Given the description of an element on the screen output the (x, y) to click on. 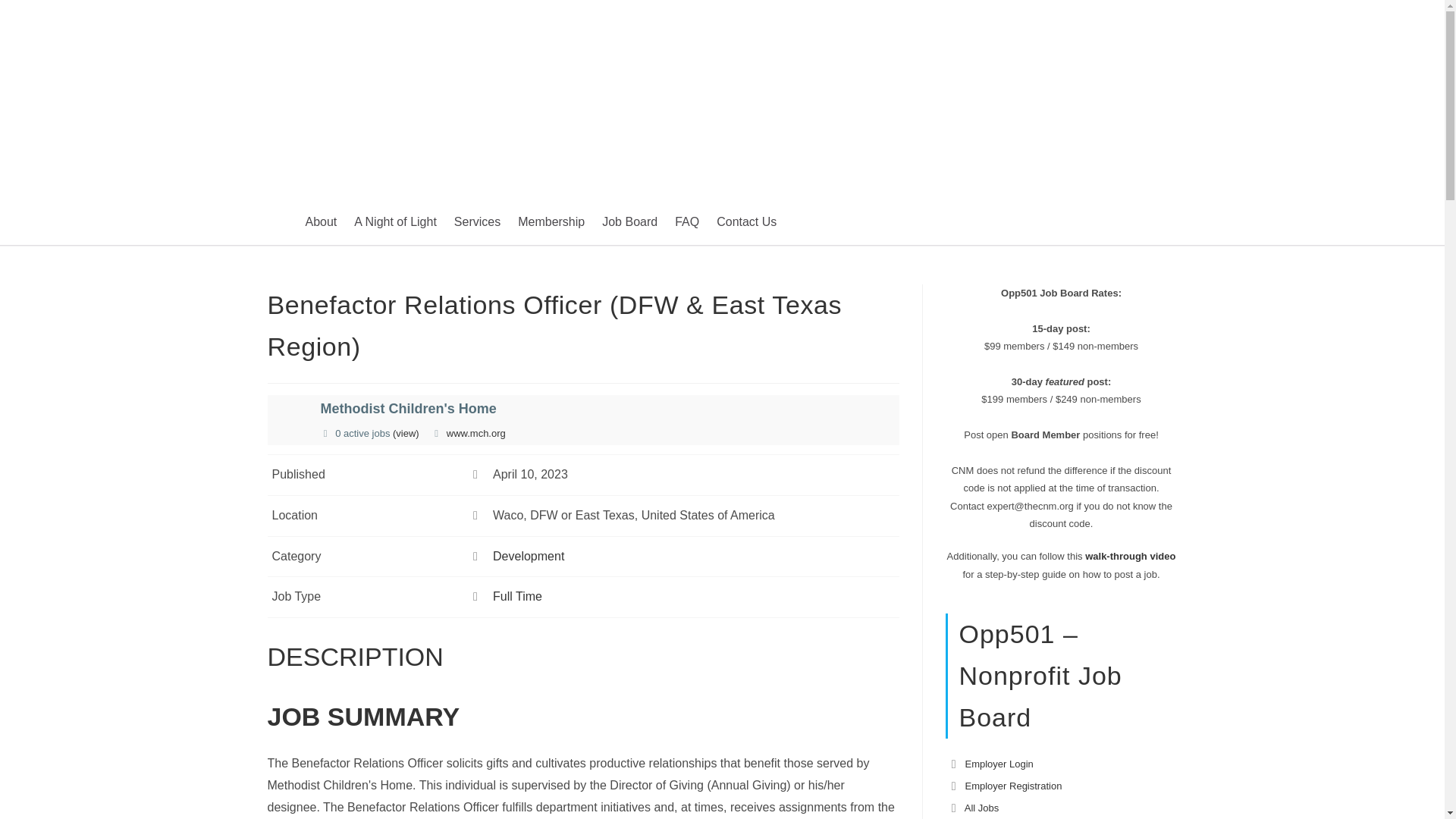
Membership (551, 222)
About (320, 222)
Job Board (629, 222)
Contact Us (746, 222)
FAQ (686, 222)
A Night of Light (395, 222)
Services (477, 222)
